Given the description of an element on the screen output the (x, y) to click on. 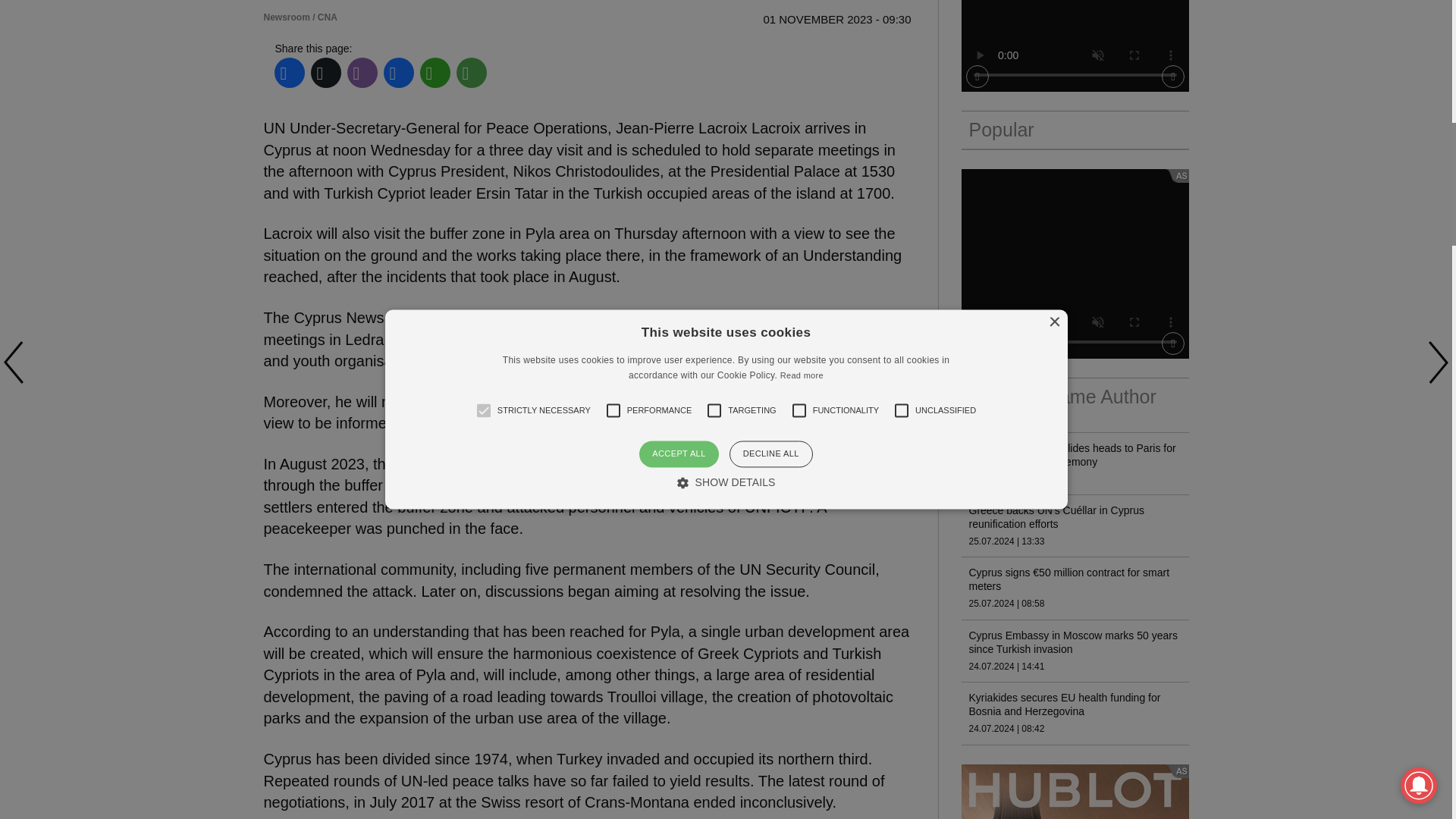
Facebook (288, 72)
